Given the description of an element on the screen output the (x, y) to click on. 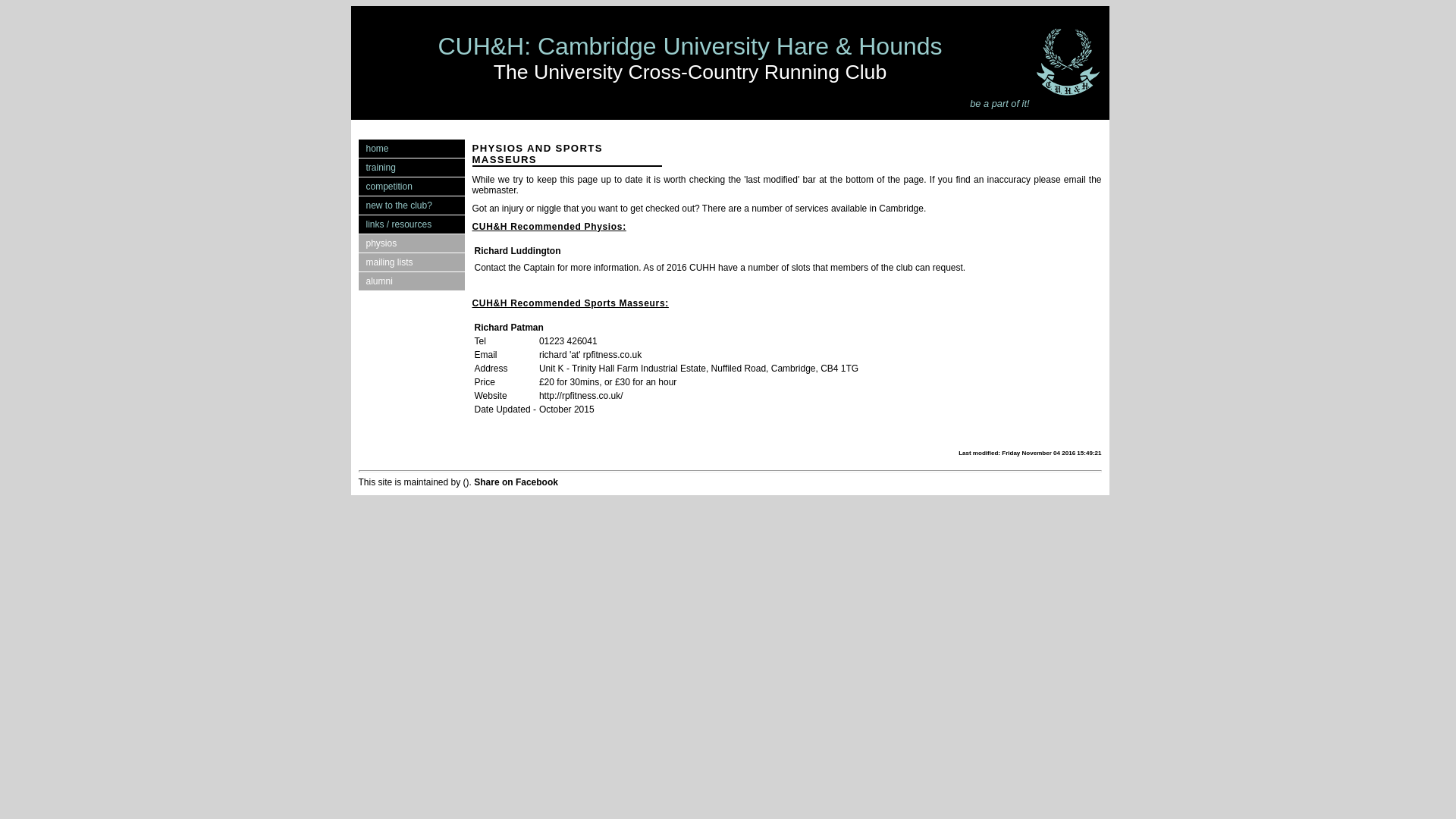
mailing lists (411, 262)
new to the club? (411, 205)
competition (411, 186)
home (411, 148)
training (411, 167)
Share on Facebook (515, 481)
physios (411, 243)
alumni (411, 280)
